Given the description of an element on the screen output the (x, y) to click on. 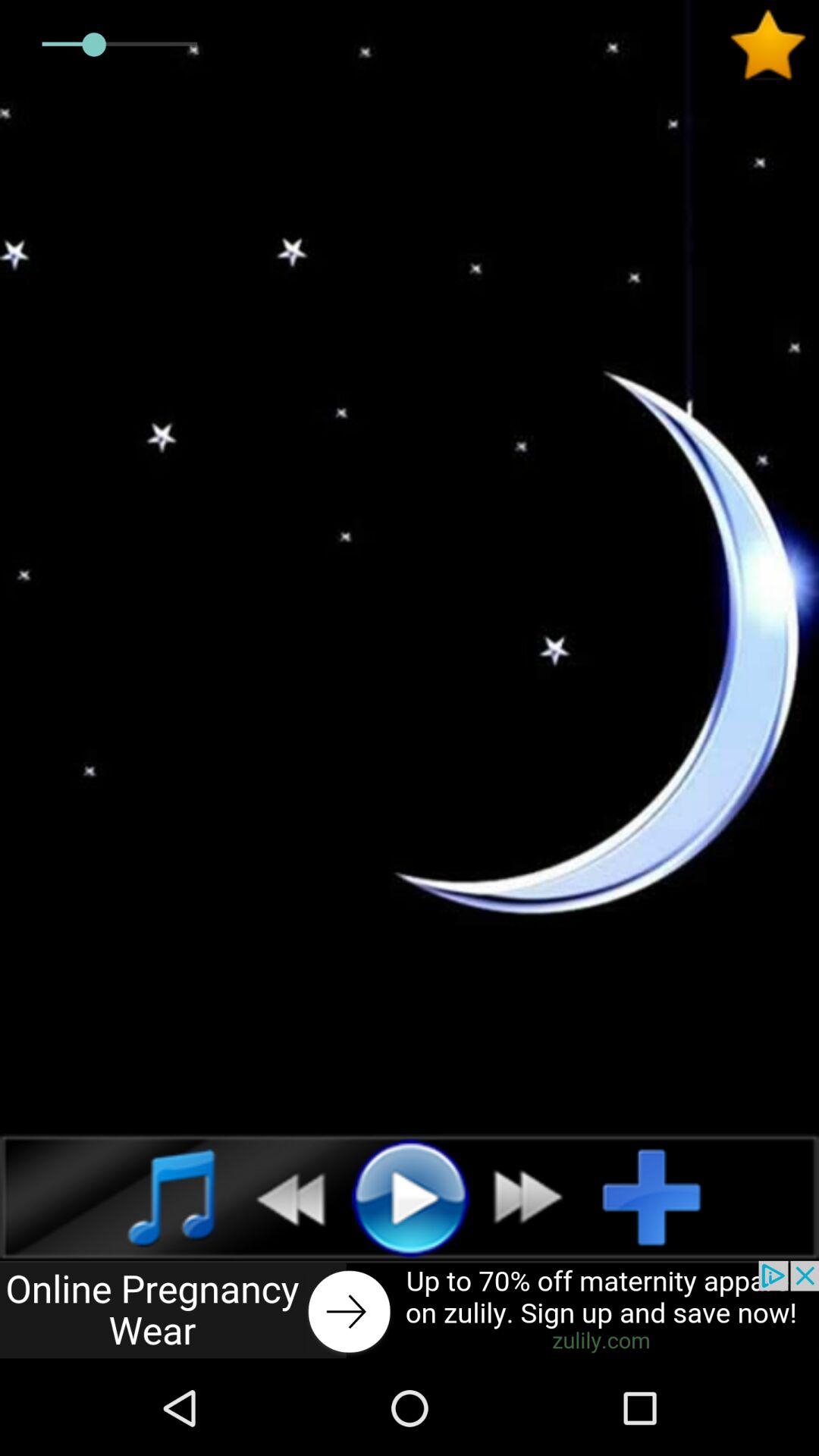
go back (281, 1196)
